Given the description of an element on the screen output the (x, y) to click on. 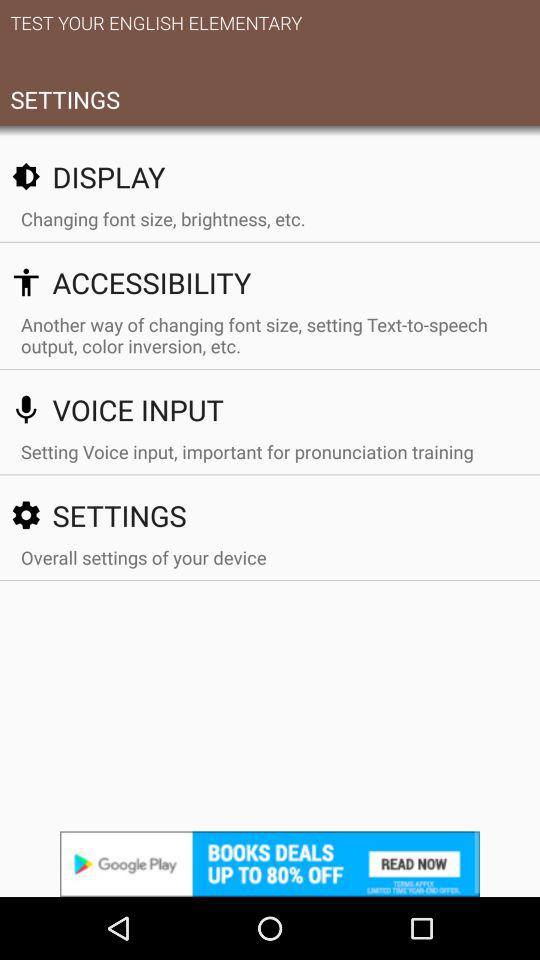
select the icon beside voice input (26, 409)
click the settings icon button on the web page (26, 515)
select the icon left to accessibility (26, 281)
